Given the description of an element on the screen output the (x, y) to click on. 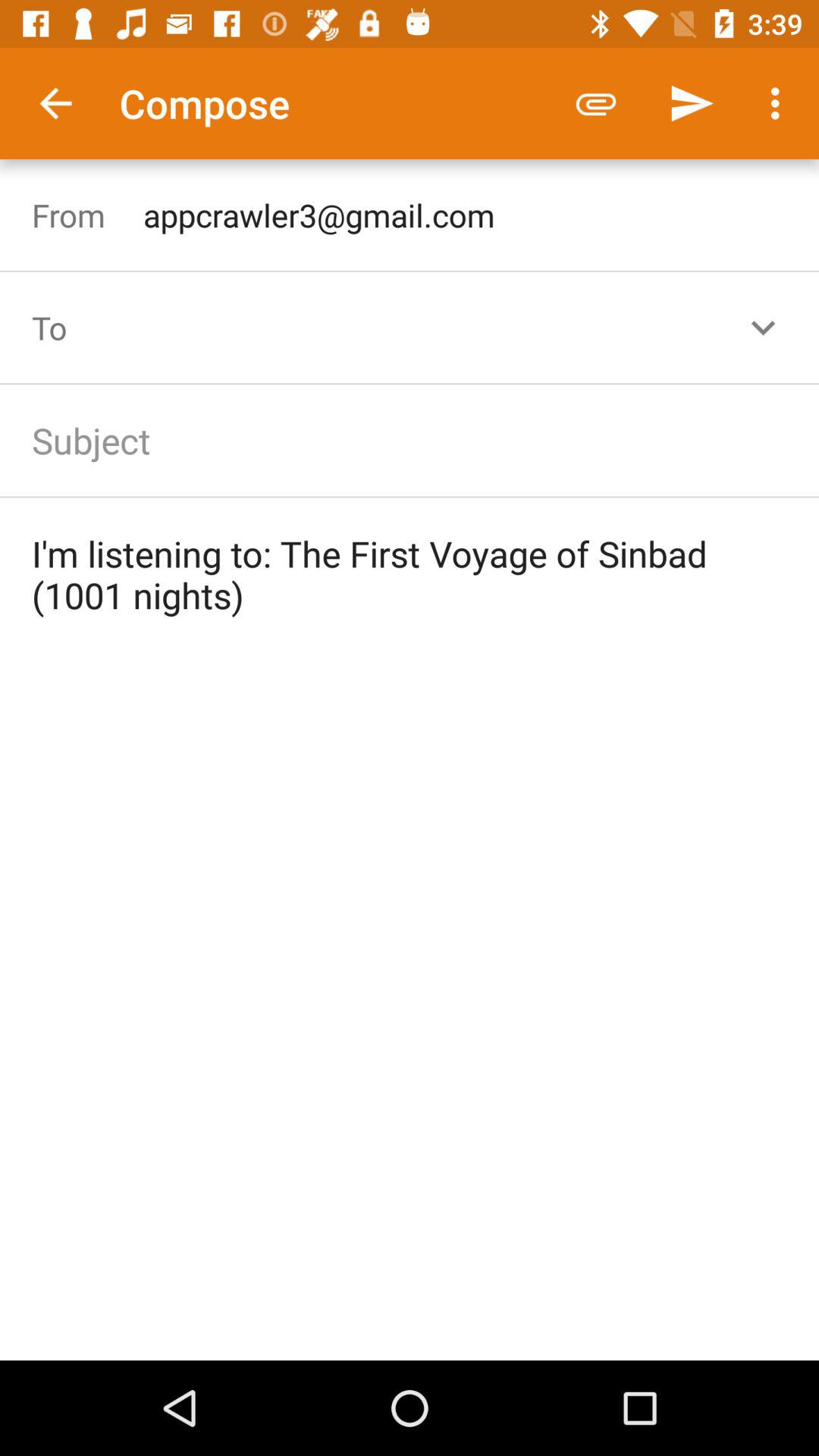
click item above the appcrawler3@gmail.com icon (691, 103)
